Given the description of an element on the screen output the (x, y) to click on. 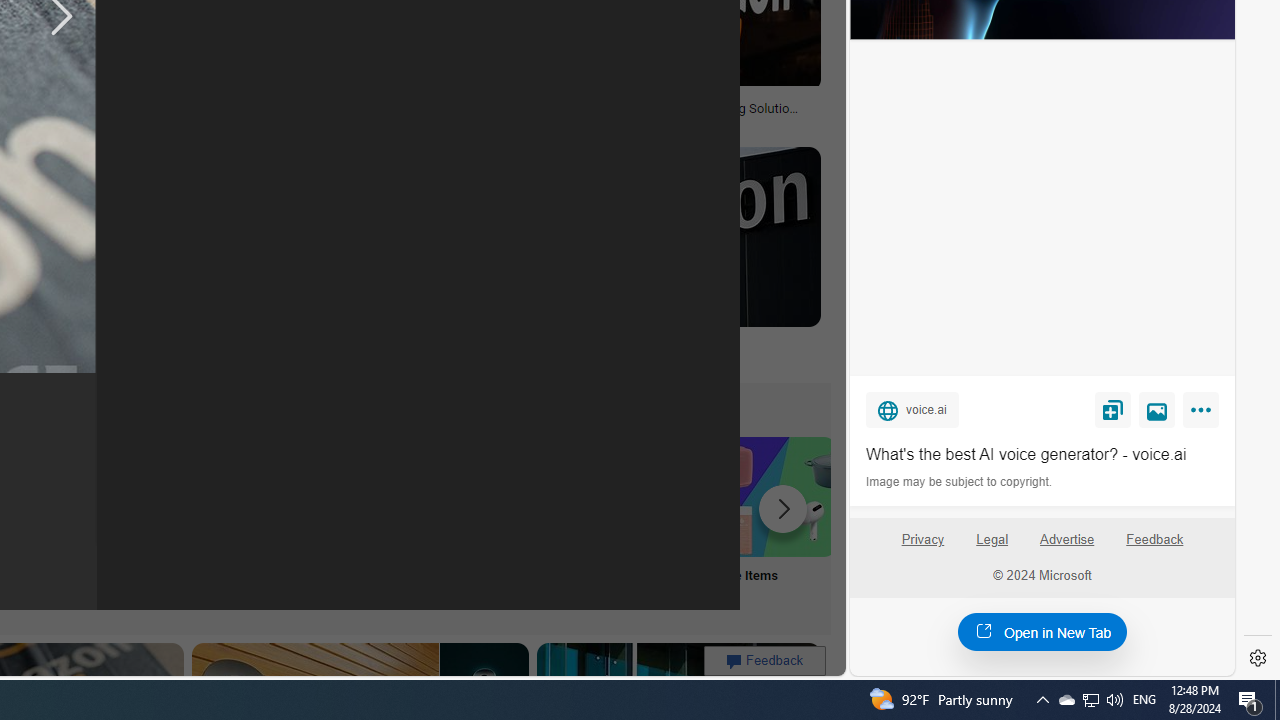
More (1204, 413)
What's the best AI voice generator? - voice.ai (1042, 454)
Amazon (536, 343)
Amazon Visa Card Login (643, 496)
Prime Shopping Online (380, 521)
Privacy (922, 539)
Amazon Sale Items (775, 496)
Advertise (1066, 539)
Legal (991, 539)
Legal (992, 547)
